Given the description of an element on the screen output the (x, y) to click on. 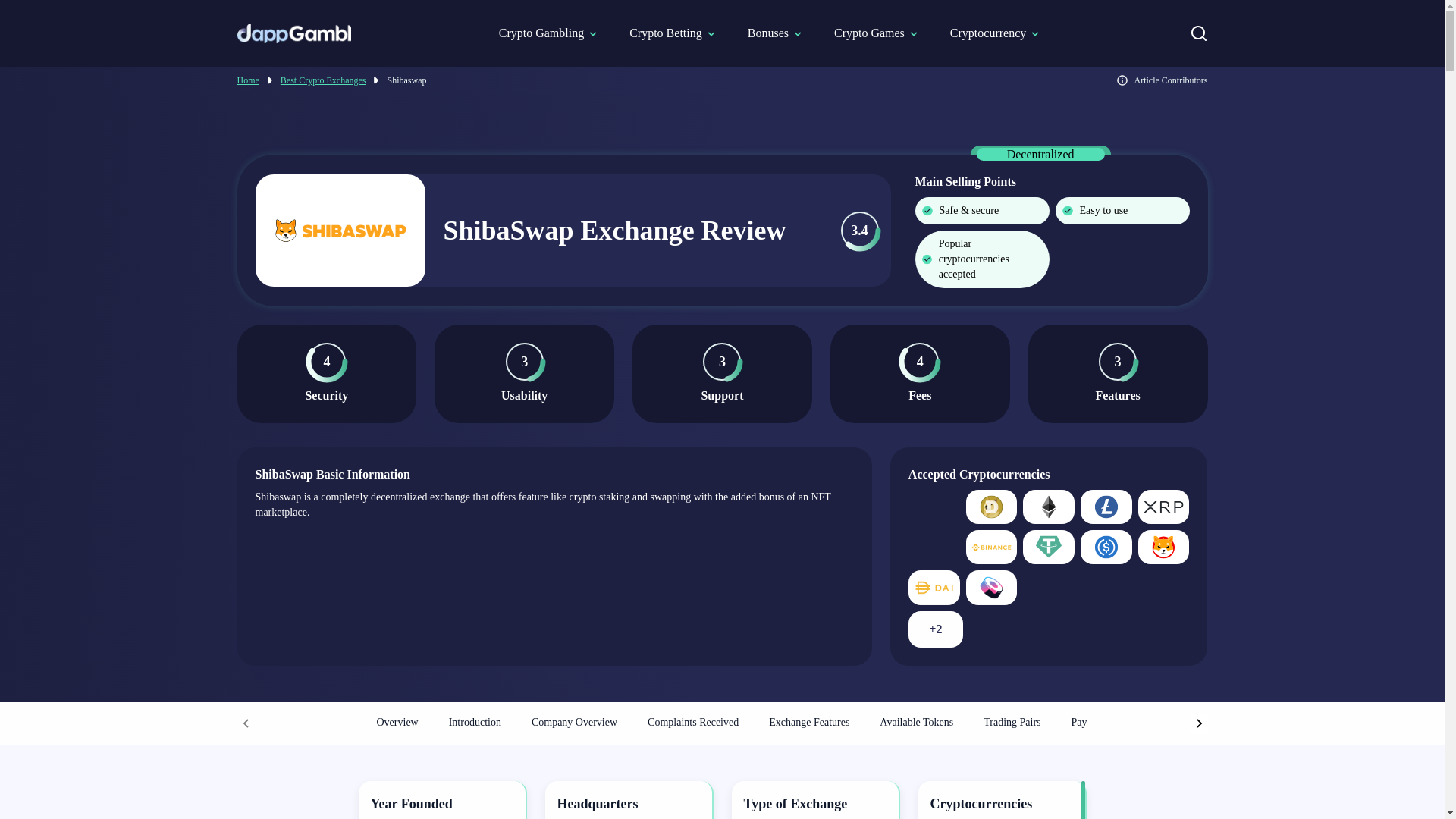
Logo (292, 33)
